Given the description of an element on the screen output the (x, y) to click on. 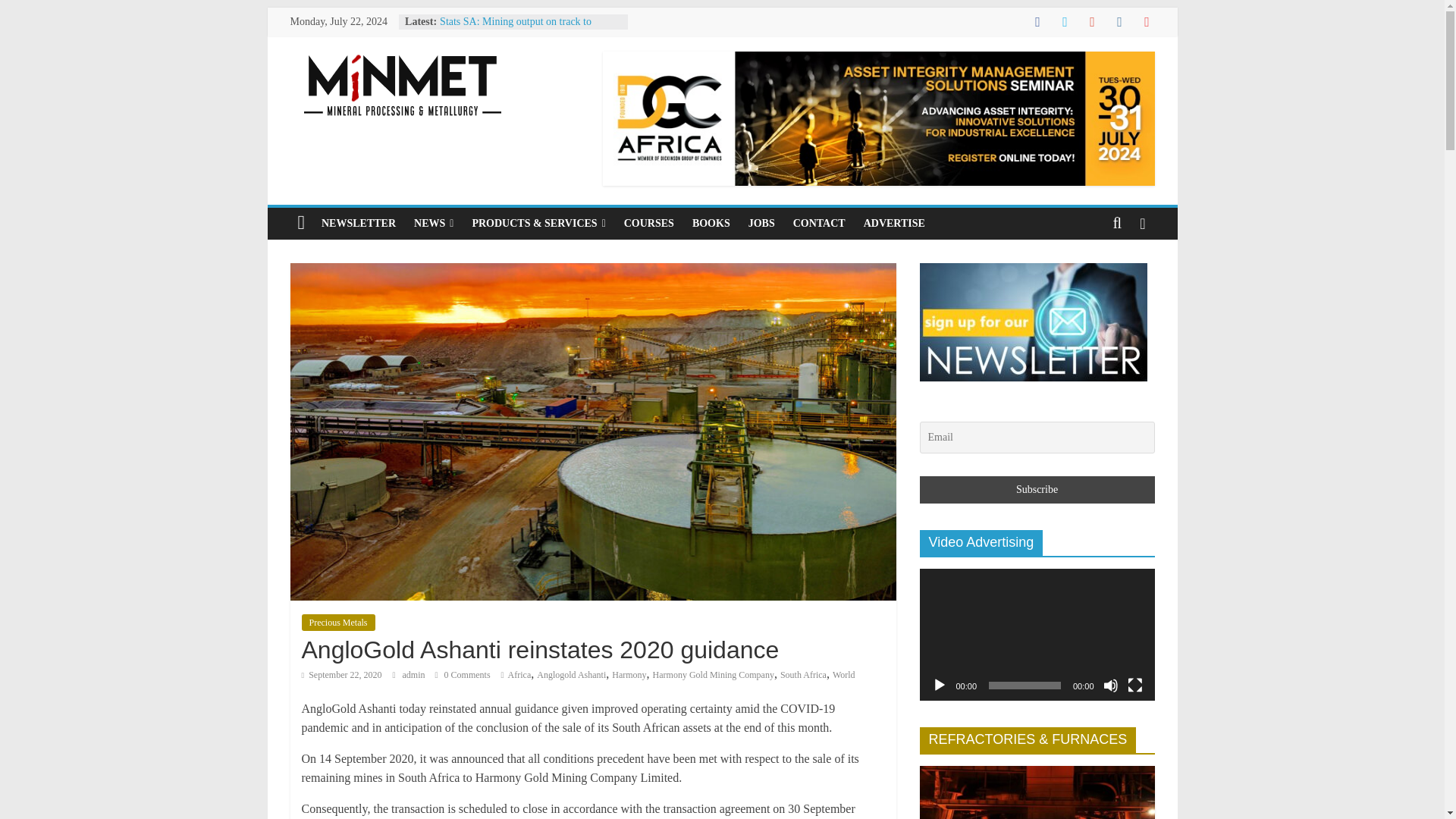
JOBS (761, 223)
09:58 (341, 674)
Stats SA: Mining output on track to decline in Q2 2024 (515, 28)
0 Comments (462, 674)
NEWSLETTER (358, 223)
Precious Metals (338, 622)
COURSES (648, 223)
Subscribe (1036, 489)
admin (415, 674)
CONTACT (819, 223)
Africa (519, 674)
admin (415, 674)
ADVERTISE (894, 223)
BOOKS (710, 223)
